Given the description of an element on the screen output the (x, y) to click on. 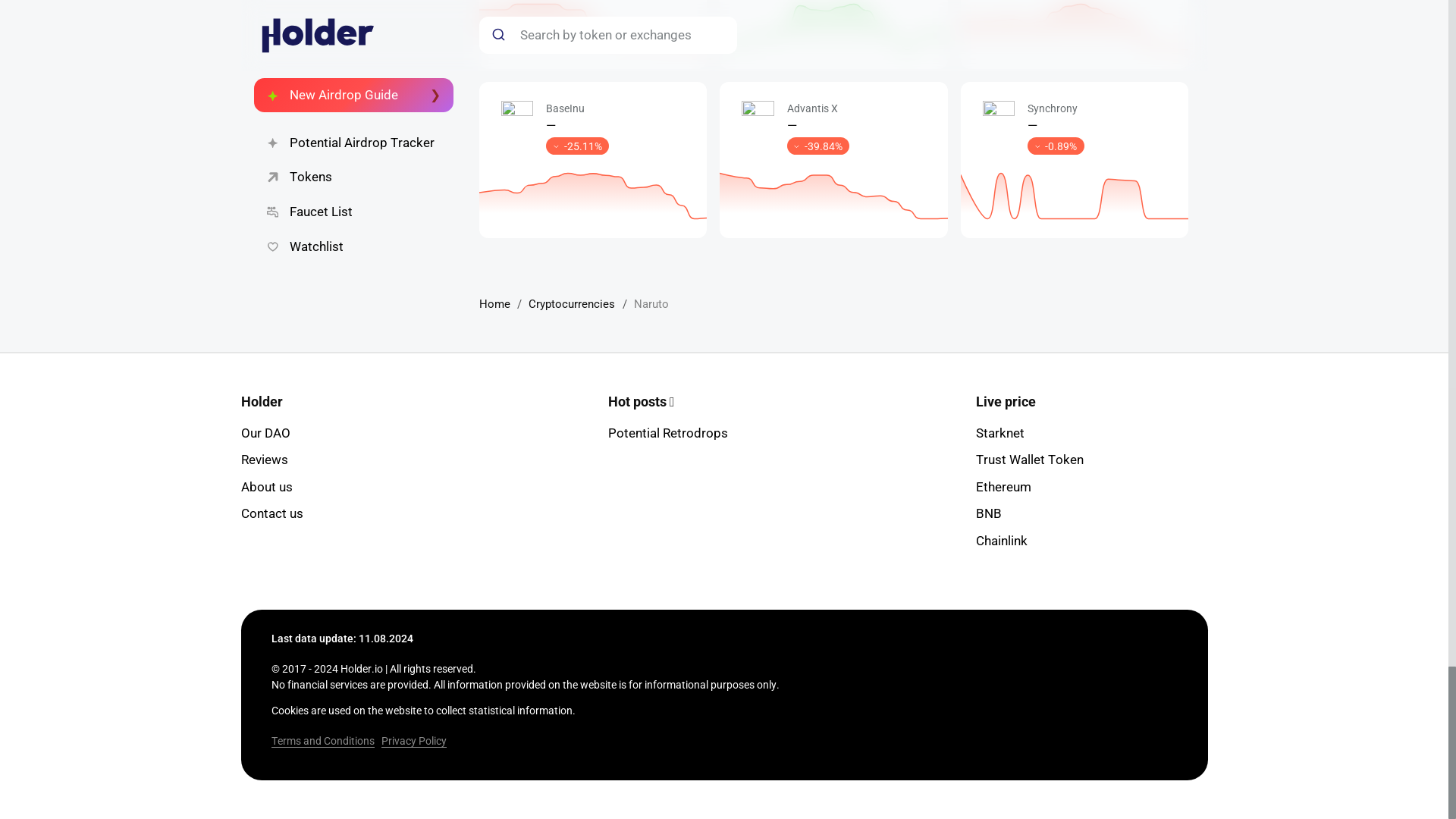
Reviews (264, 459)
Home (495, 304)
Cryptocurrencies (571, 304)
Potential Retrodrops (668, 432)
Our DAO (265, 432)
Contact us (271, 513)
Starknet (999, 432)
About us (266, 486)
